Given the description of an element on the screen output the (x, y) to click on. 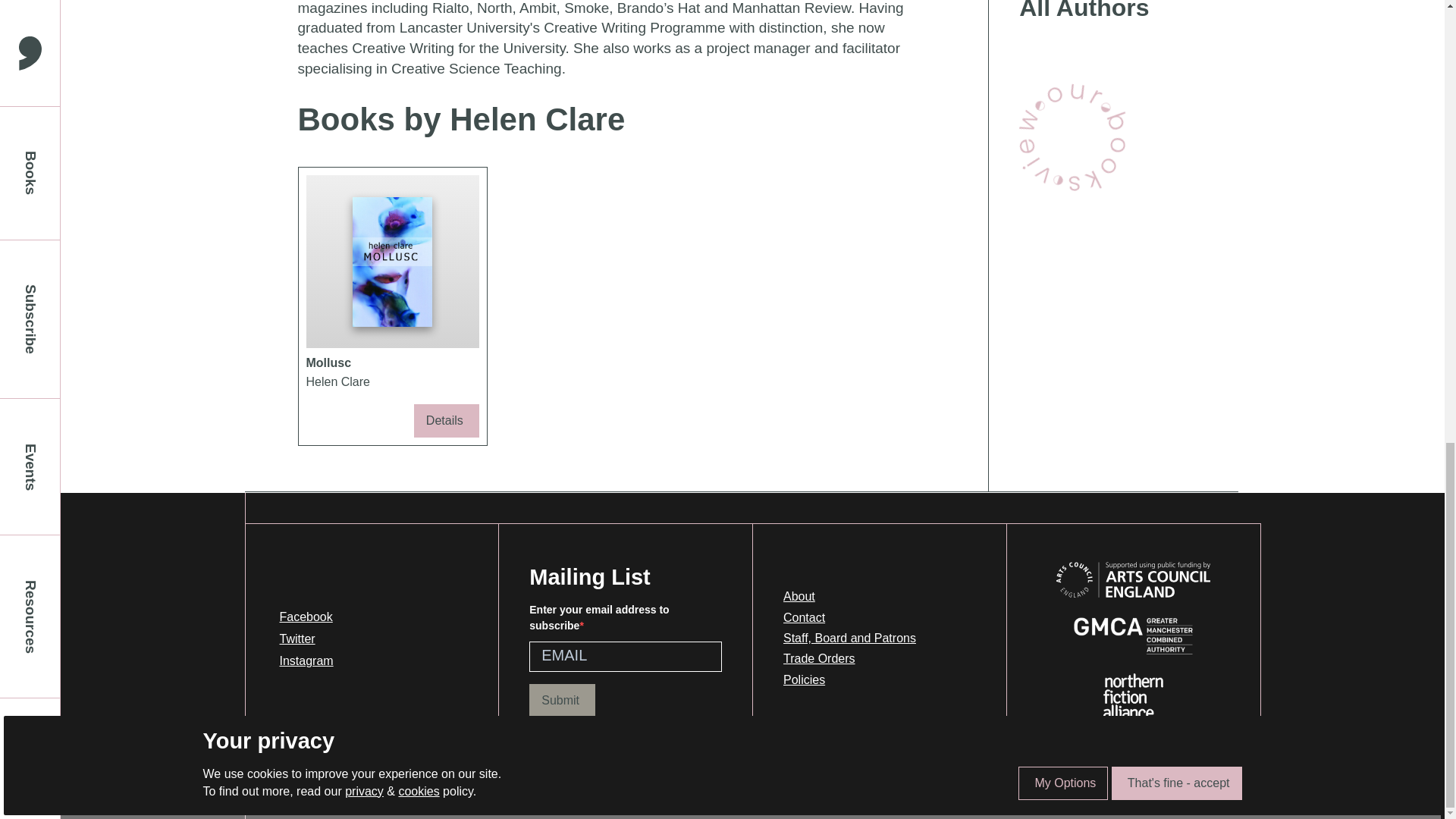
About (849, 596)
Manage Cookies (428, 787)
Contact (849, 617)
Policies (391, 306)
All Authors (849, 679)
Twitter (1113, 12)
View Our Books (304, 638)
Staff, Board and Patrons (1072, 136)
Instagram (849, 638)
Submit (304, 660)
Trade Orders (562, 700)
Facebook (849, 658)
